Given the description of an element on the screen output the (x, y) to click on. 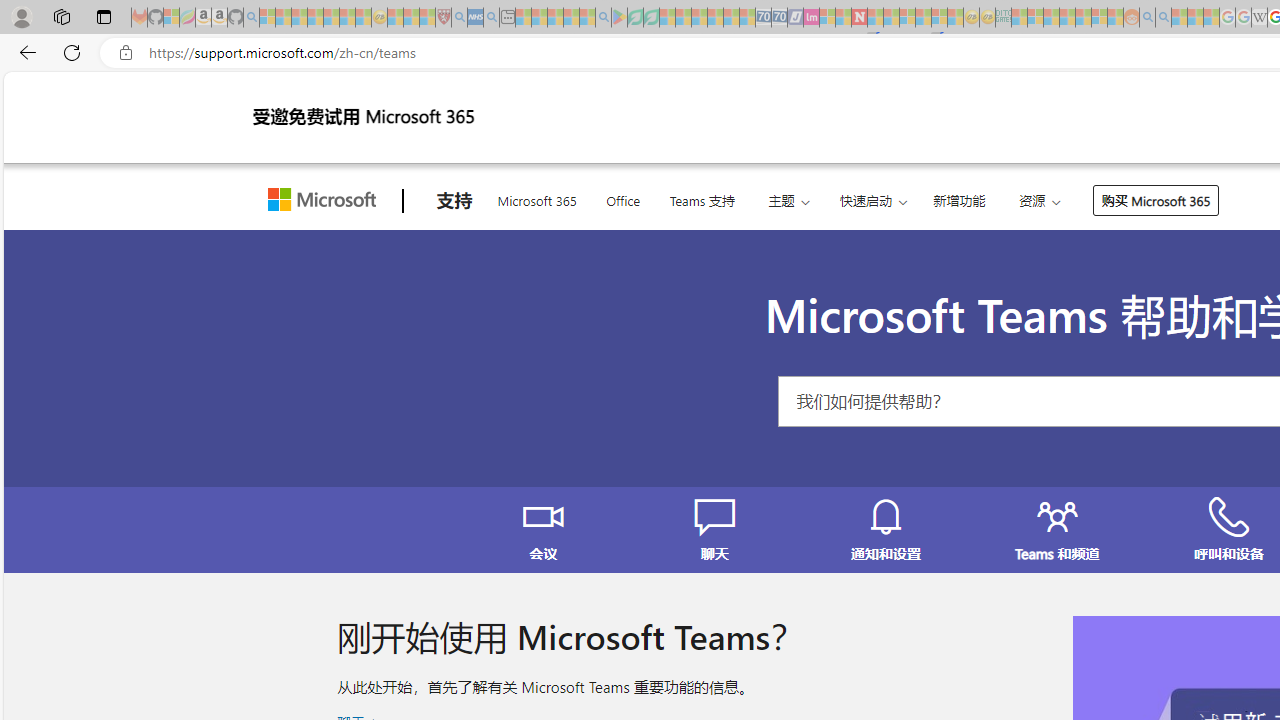
Office (623, 198)
